Given the description of an element on the screen output the (x, y) to click on. 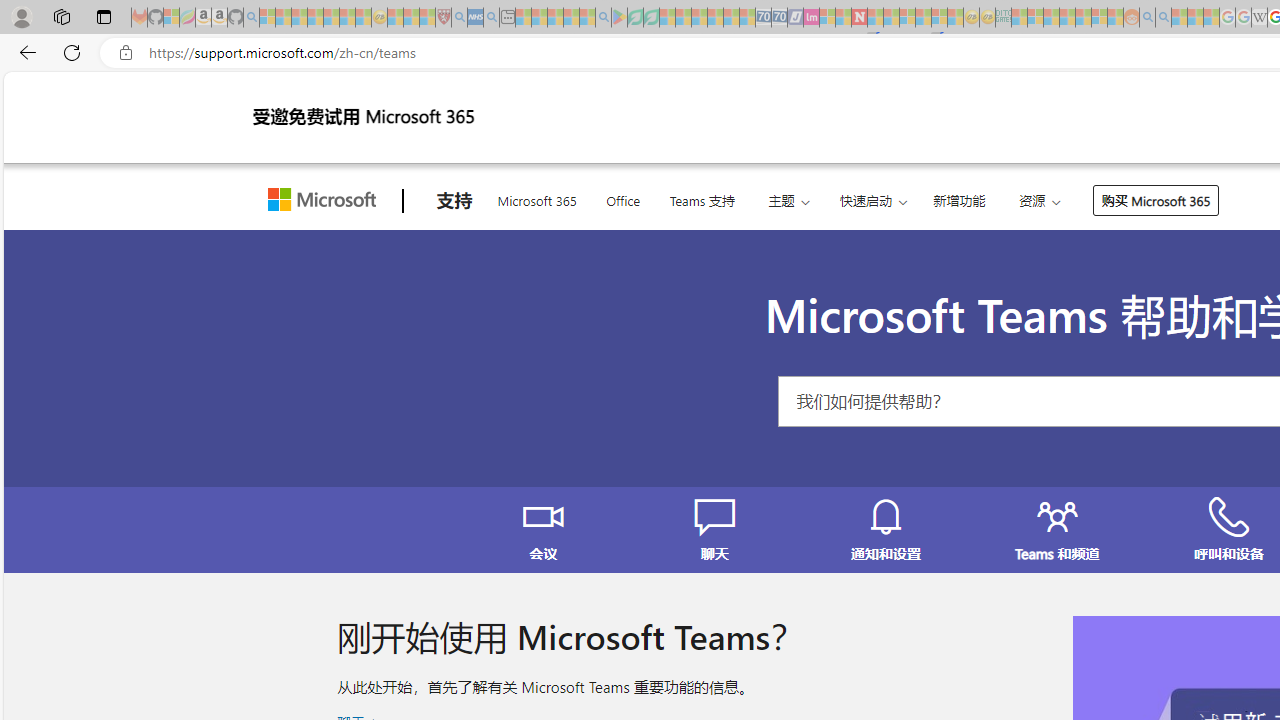
Office (623, 198)
